Given the description of an element on the screen output the (x, y) to click on. 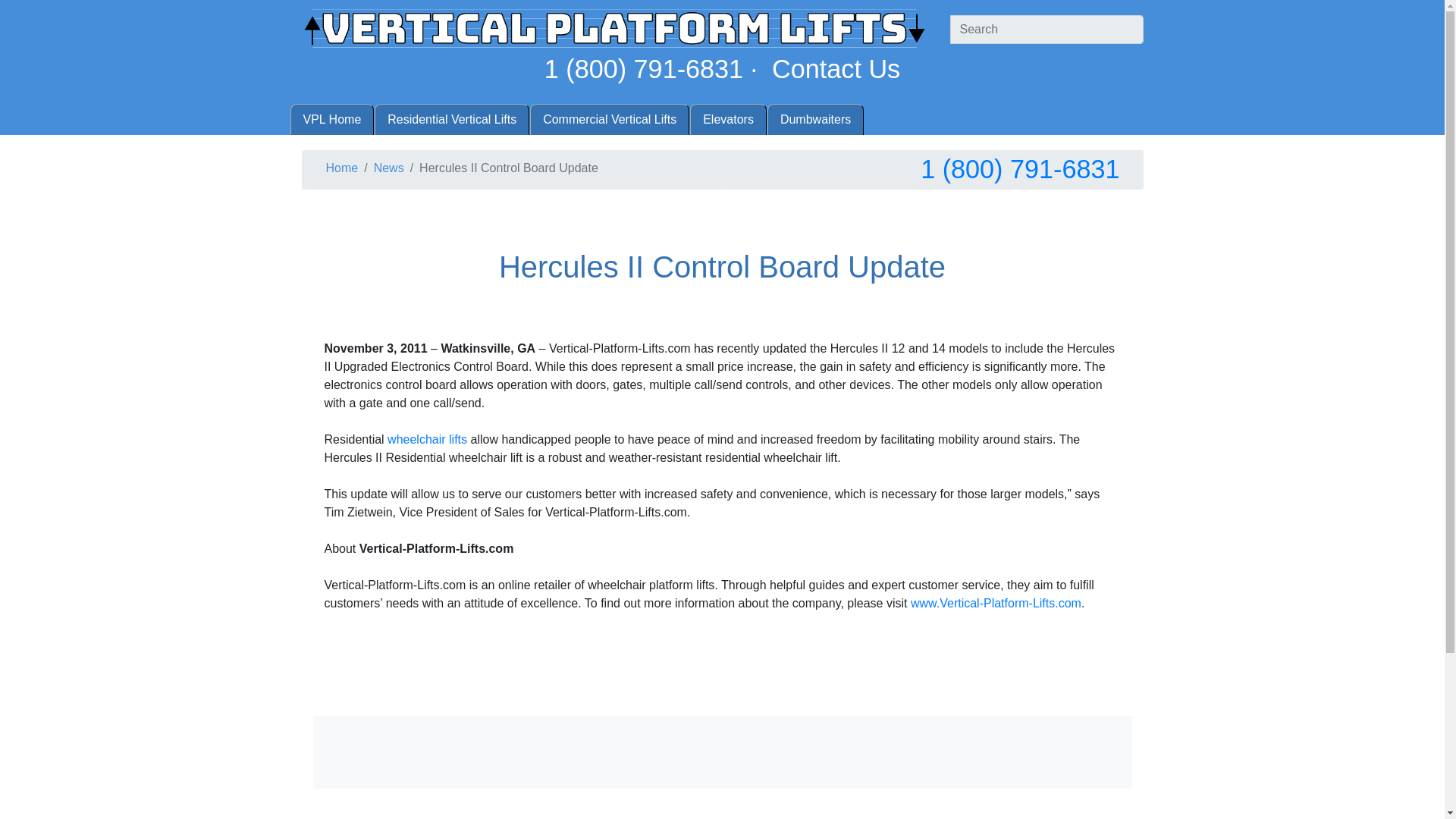
News (389, 167)
Home (342, 167)
Commercial Vertical Lifts (608, 119)
Elevators (728, 119)
Contact Us (835, 68)
Dumbwaiters (815, 119)
www.Vertical-Platform-Lifts.com (996, 603)
VPL Home (331, 119)
wheelchair lifts (427, 439)
Residential Vertical Lifts (451, 119)
